Given the description of an element on the screen output the (x, y) to click on. 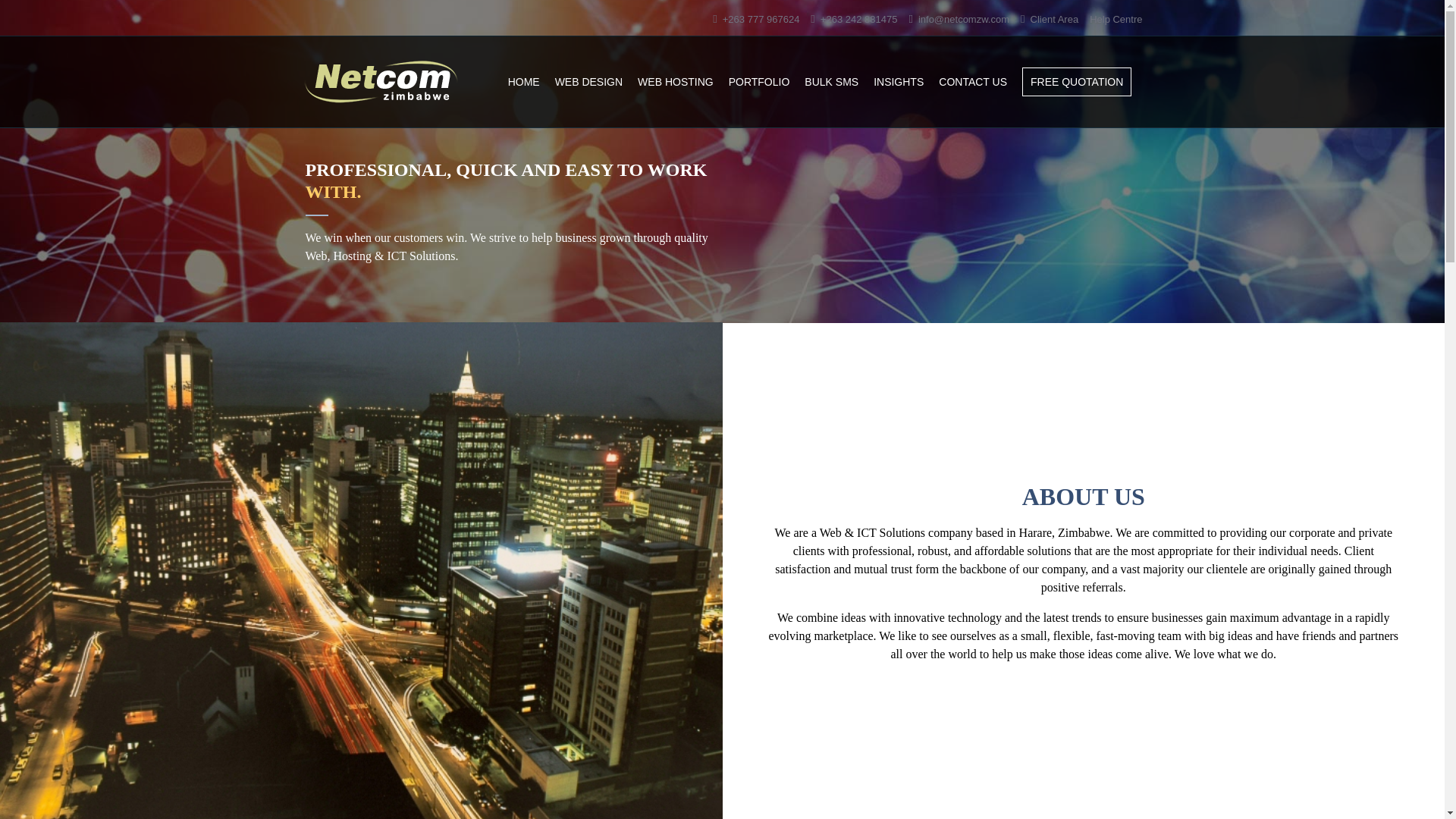
BULK SMS (832, 81)
WEB DESIGN (588, 81)
PORTFOLIO (759, 81)
Help Centre (1115, 19)
FREE QUOTATION (1076, 81)
INSIGHTS (898, 81)
CONTACT US (973, 81)
WEB HOSTING (675, 81)
HOME (524, 81)
Client Area (1054, 19)
